Given the description of an element on the screen output the (x, y) to click on. 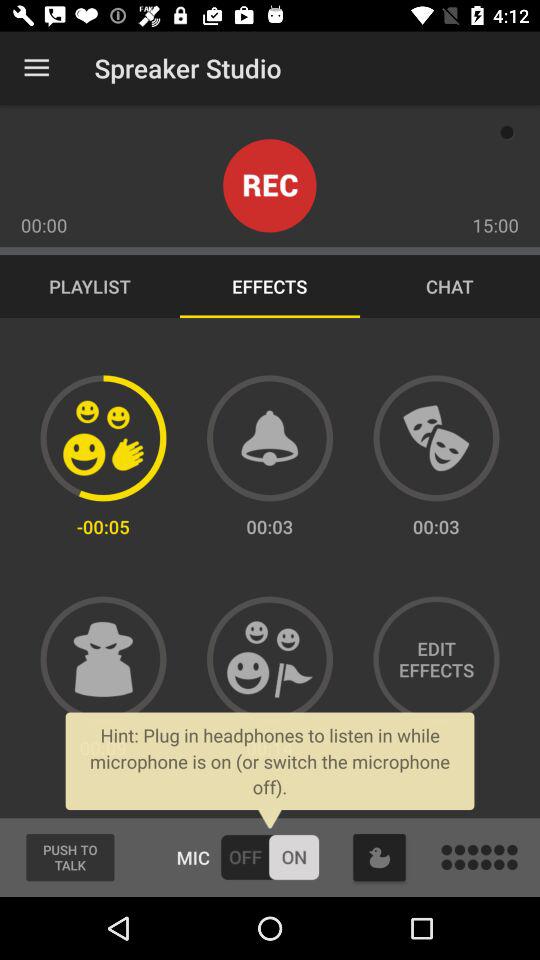
toggle mic option (269, 857)
